Given the description of an element on the screen output the (x, y) to click on. 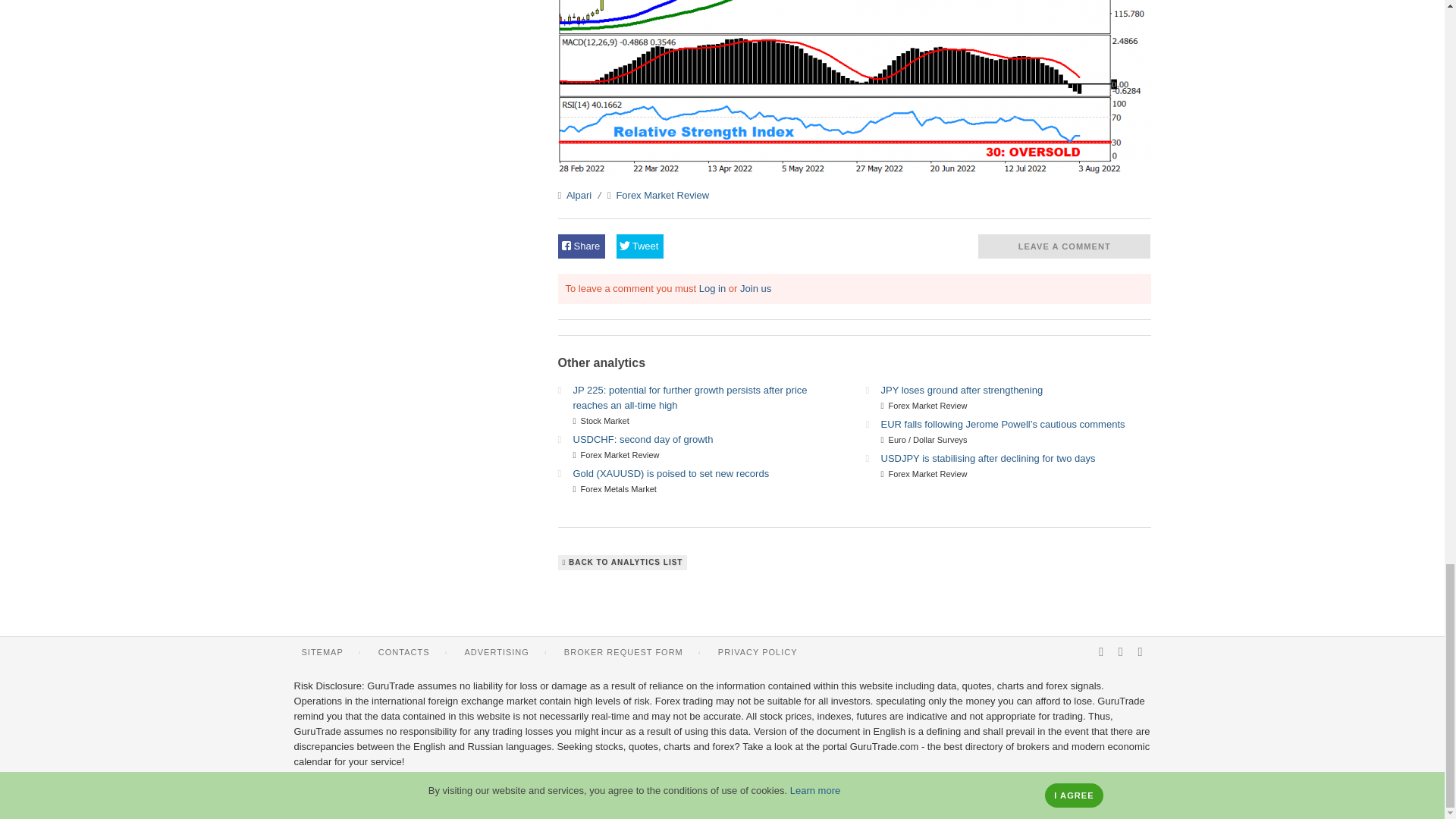
RSS (1101, 652)
Share on Twitter (639, 246)
Facebook (1121, 652)
Source (559, 194)
Twitter (1139, 652)
Share on Facebook (581, 246)
